Given the description of an element on the screen output the (x, y) to click on. 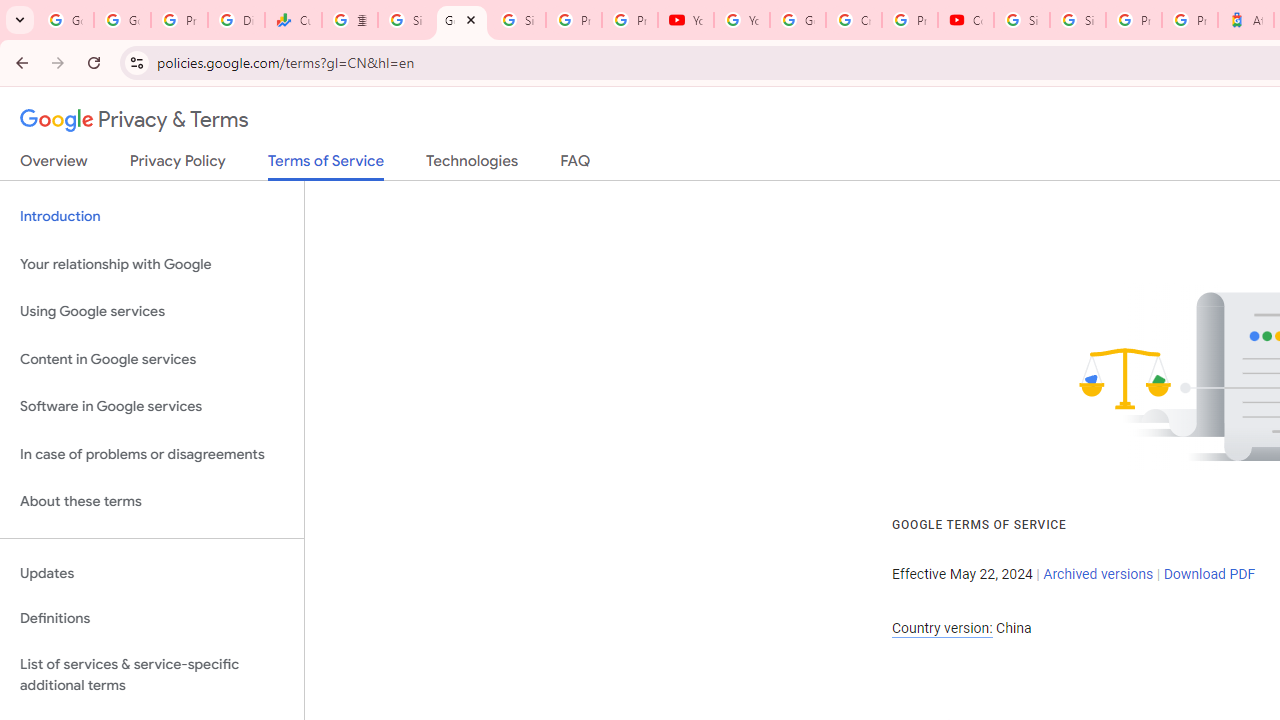
Google Account Help (797, 20)
Introduction (152, 216)
Content in Google services (152, 358)
About these terms (152, 502)
Technologies (472, 165)
YouTube (685, 20)
Privacy Policy (177, 165)
Privacy Checkup (629, 20)
YouTube (742, 20)
